Given the description of an element on the screen output the (x, y) to click on. 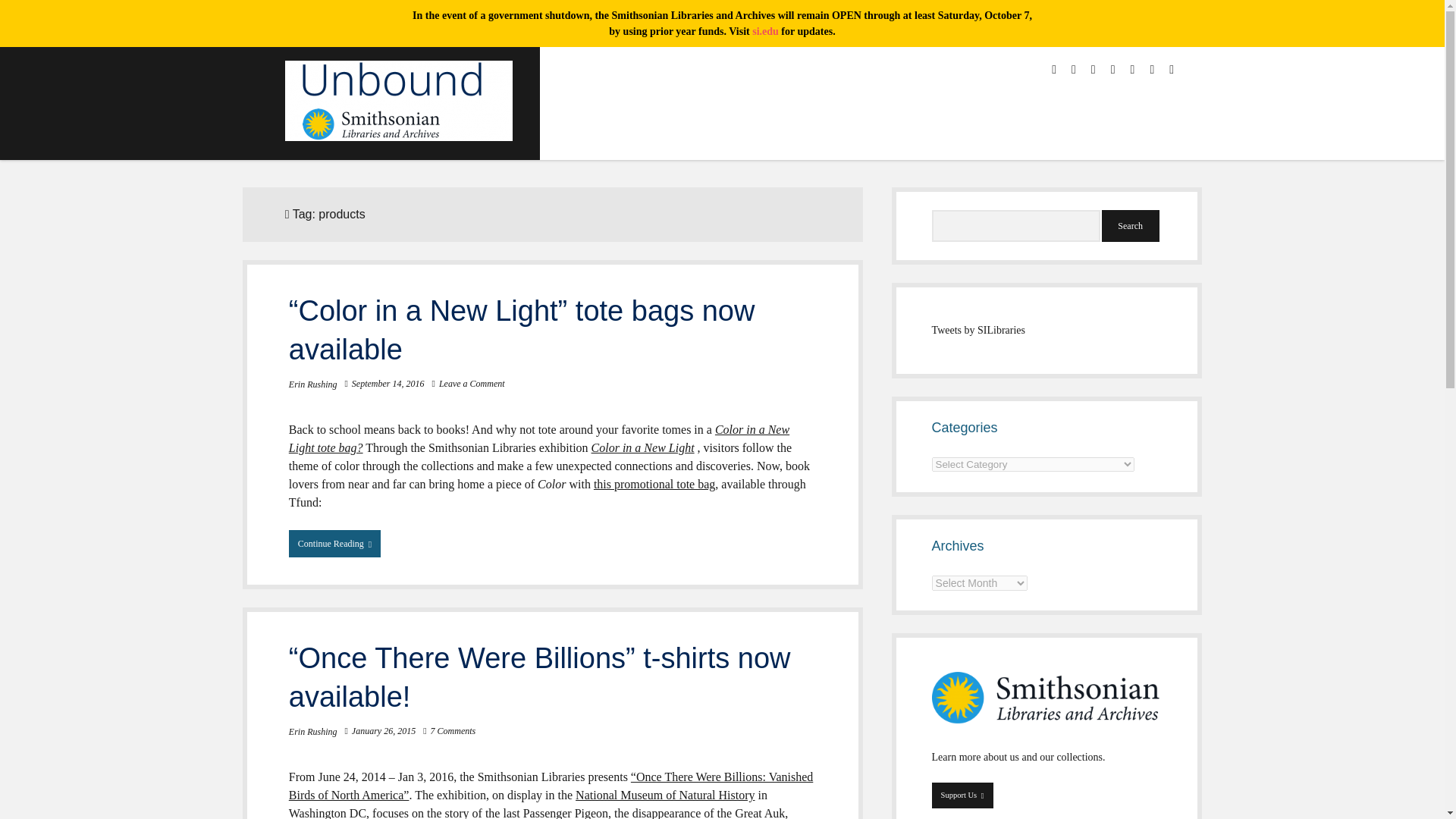
Erin Rushing (312, 731)
Erin Rushing (312, 384)
Once There Were Billions (550, 785)
NMNH (664, 794)
National Museum of Natural History (664, 794)
7 Comments (453, 730)
Search (1130, 225)
Color in a New Light (642, 447)
si.edu (765, 30)
Leave a Comment (472, 383)
January 26, 2015 (383, 730)
Color in a New Light tote bag? (538, 438)
Search (1130, 225)
this promotional tote bag (654, 483)
Search for: (1015, 225)
